Given the description of an element on the screen output the (x, y) to click on. 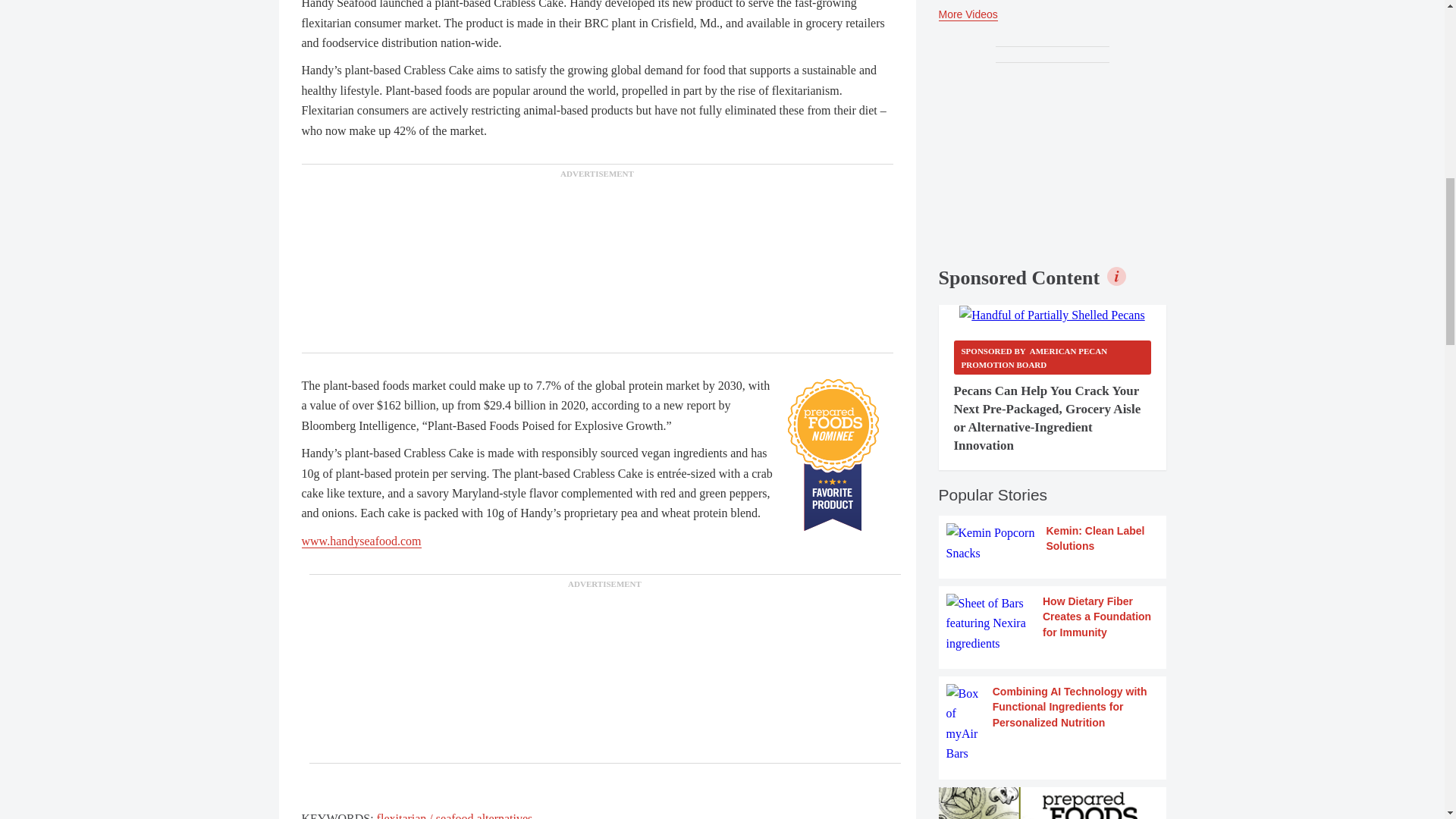
Kemin: Clean Label Solutions (1052, 543)
Handful of Partially Shelled Pecans (1051, 315)
Sponsored by American Pecan Promotion Board (1052, 357)
How Dietary Fiber Creates a Foundation for Immunity (1052, 623)
